Given the description of an element on the screen output the (x, y) to click on. 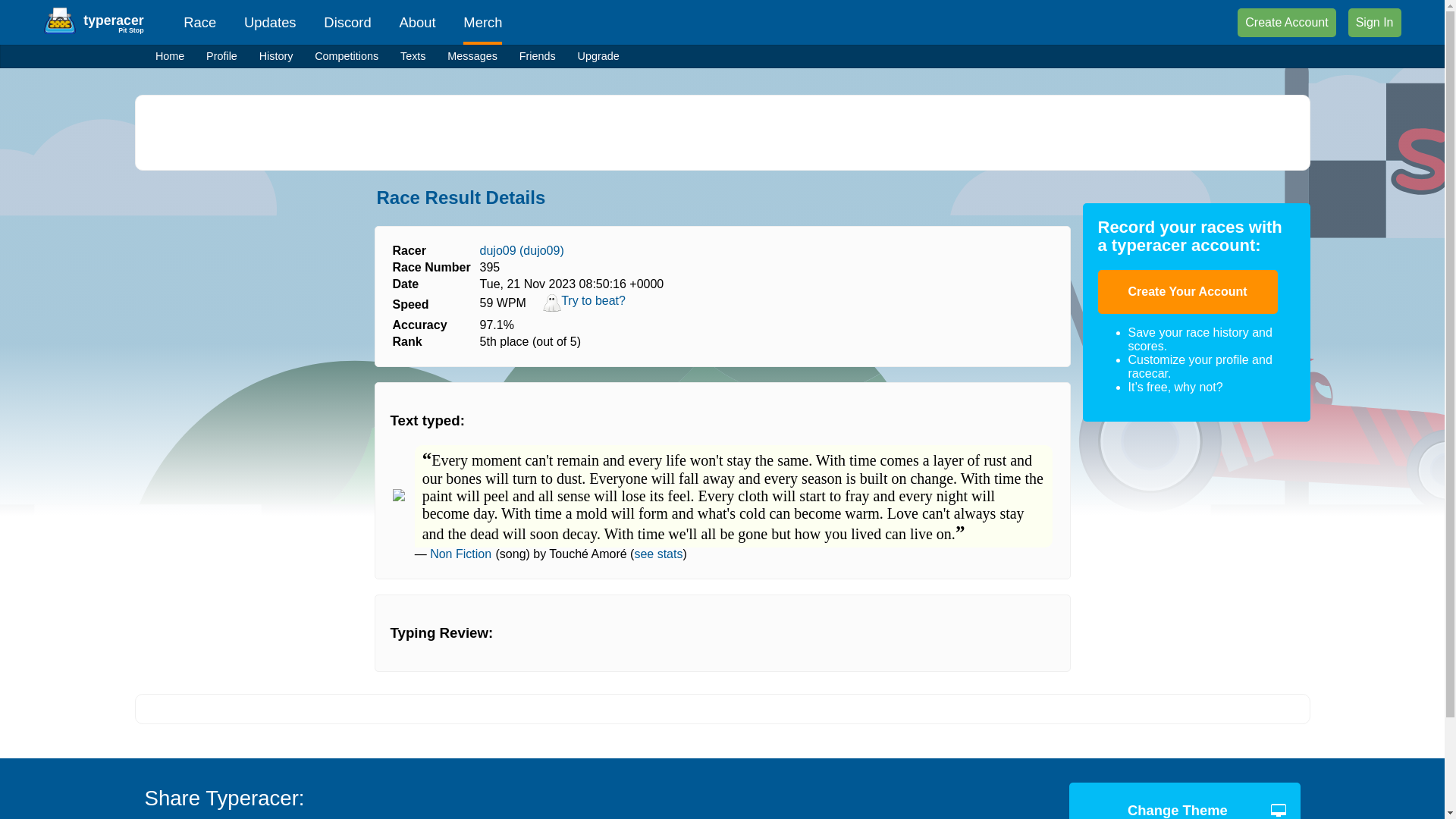
Sign In (1374, 22)
Try to beat? (584, 308)
Upgrade (598, 56)
Create Account (1286, 22)
see stats (657, 553)
Texts (413, 56)
Messages (472, 56)
You can try to beat this score in ghost racing mode. (584, 308)
Profile (221, 56)
Competitions (347, 56)
Create Your Account (1187, 291)
History (275, 56)
Non Fiction (460, 553)
Home (169, 56)
Updates (270, 22)
